Given the description of an element on the screen output the (x, y) to click on. 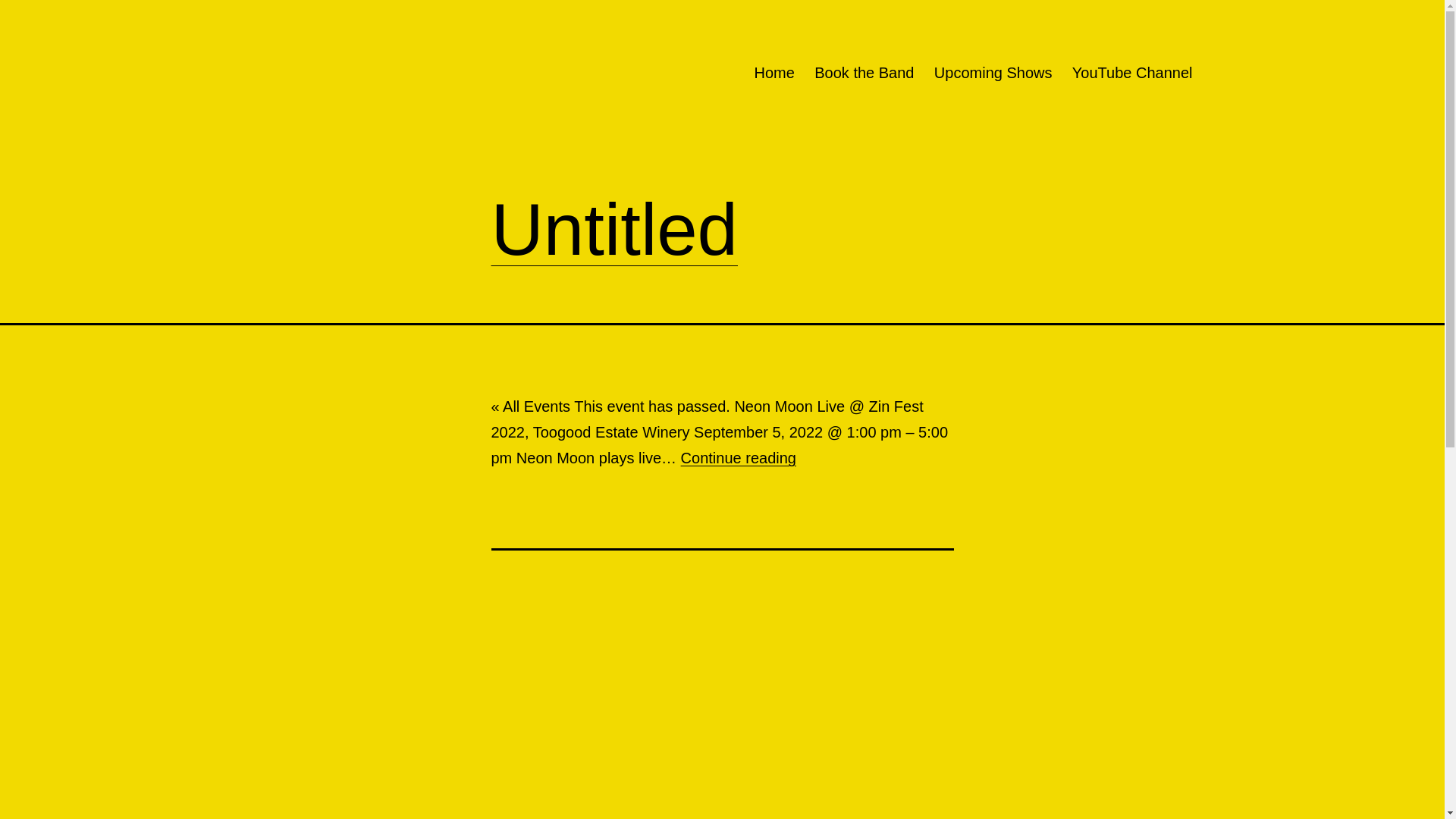
Book the Band Element type: text (864, 72)
Upcoming Shows Element type: text (993, 72)
YouTube Channel Element type: text (1132, 72)
Home Element type: text (773, 72)
Untitled Element type: text (614, 228)
